Given the description of an element on the screen output the (x, y) to click on. 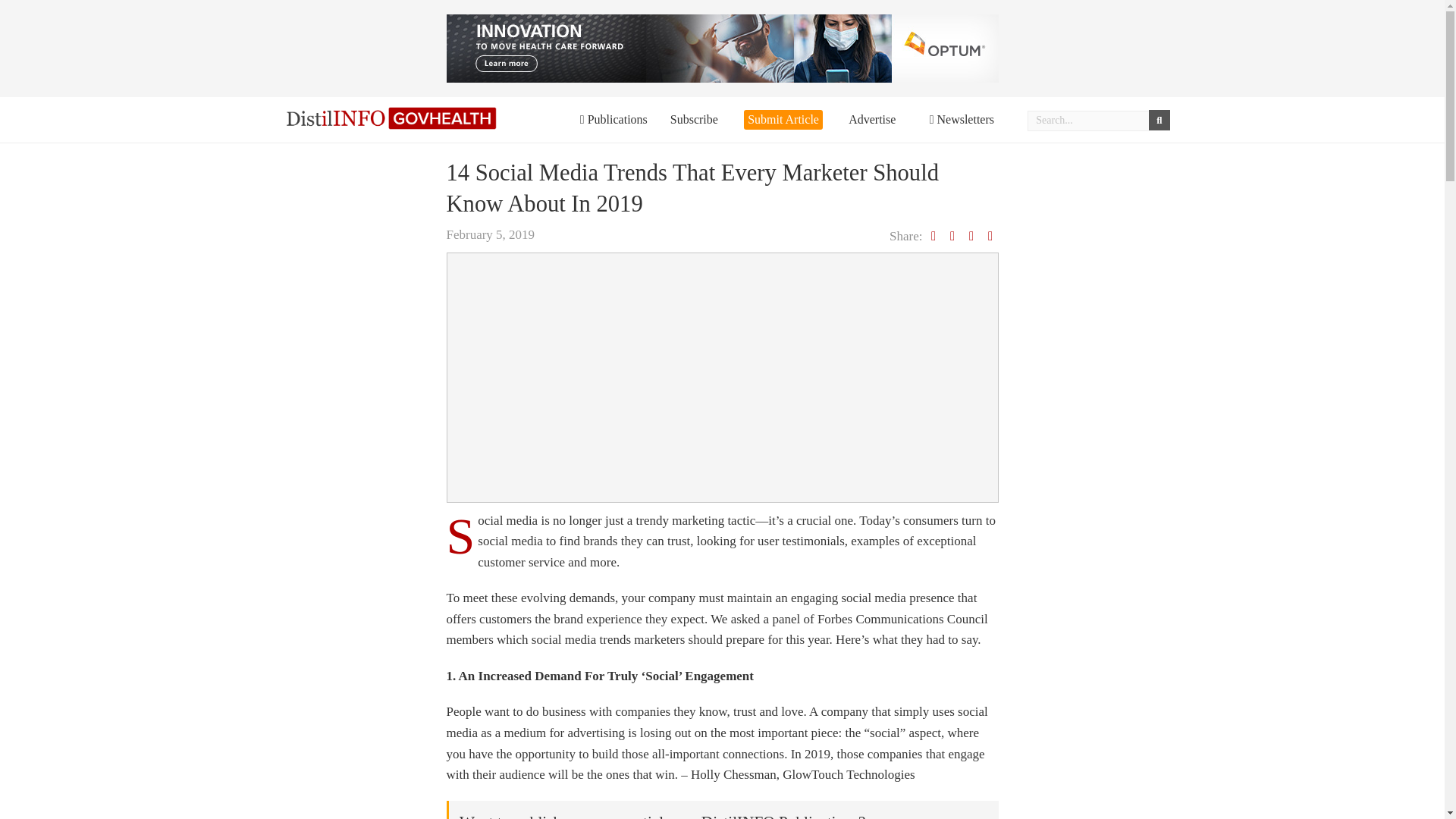
Forbes Communications Council (902, 618)
Newsletters Archive (961, 119)
Advertise (871, 119)
Newsletters (961, 119)
Holly Chessman (733, 774)
Publications (613, 119)
GlowTouch Technologies (848, 774)
Subscribe (693, 119)
DistilGovHealth (392, 118)
Submit Article (783, 119)
